Given the description of an element on the screen output the (x, y) to click on. 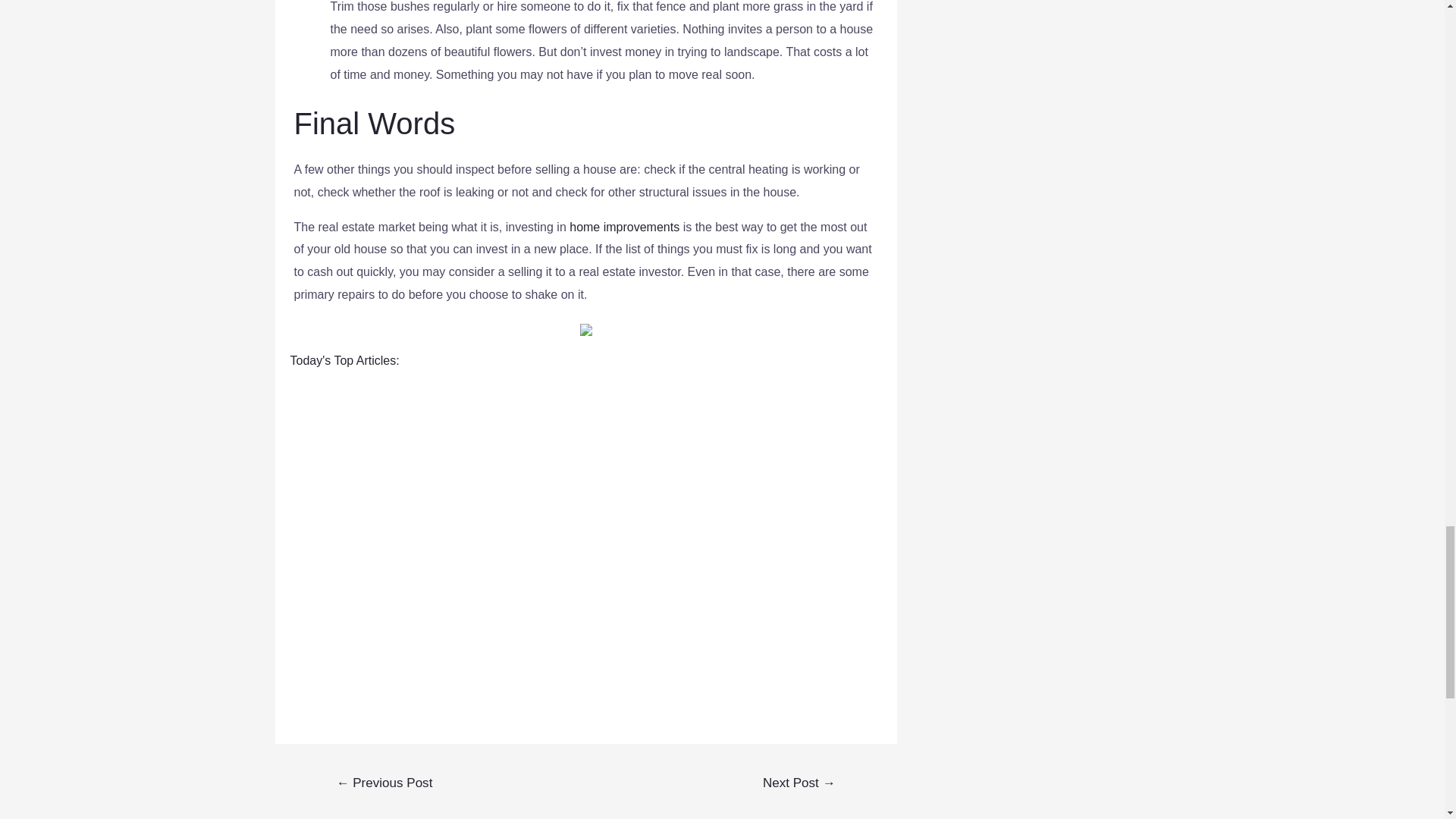
home improvements (624, 226)
